Given the description of an element on the screen output the (x, y) to click on. 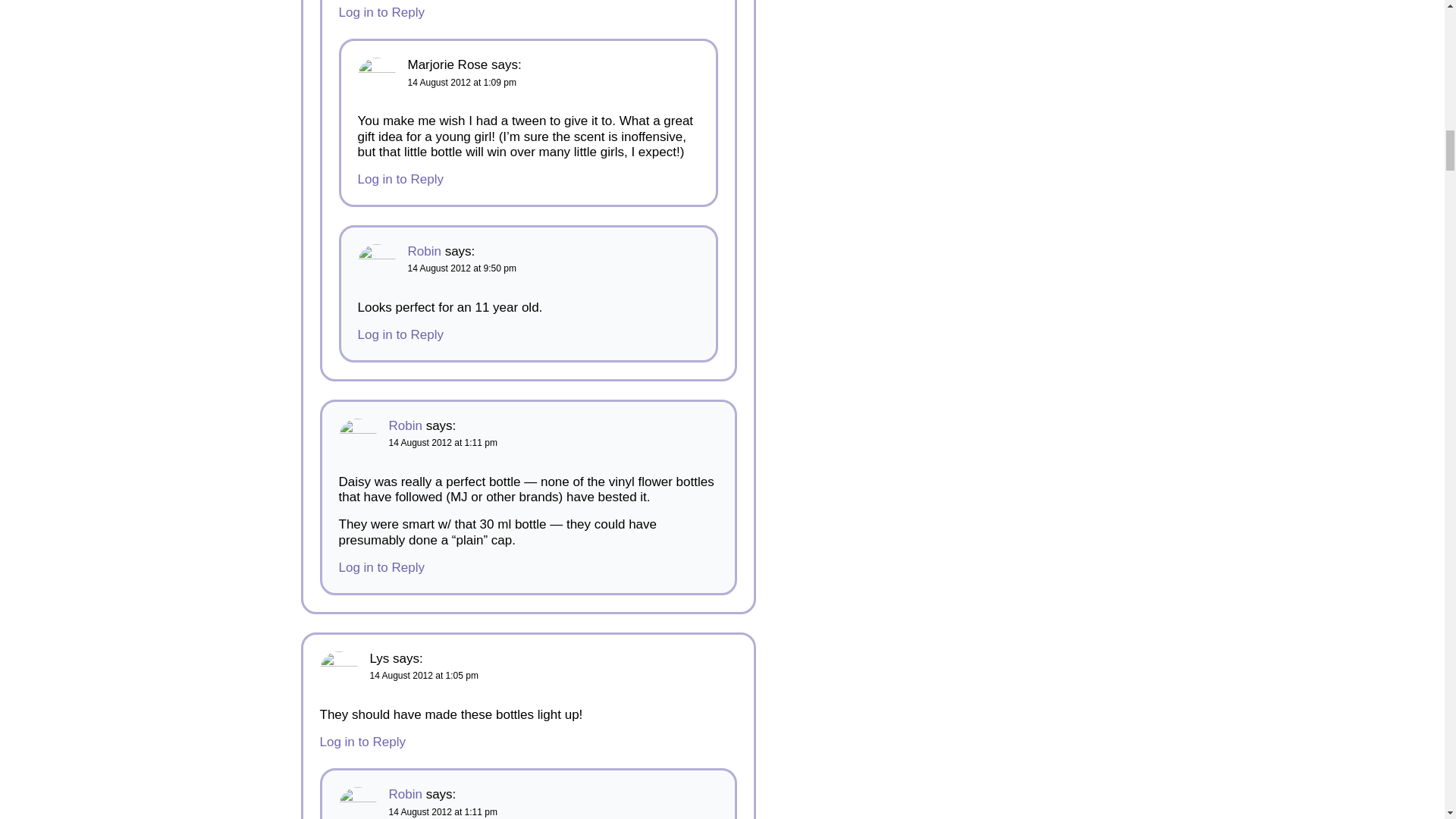
Log in to Reply (401, 334)
Robin (424, 251)
Log in to Reply (401, 178)
Robin (405, 425)
Log in to Reply (380, 567)
Log in to Reply (363, 741)
Log in to Reply (380, 11)
Robin (405, 794)
